Given the description of an element on the screen output the (x, y) to click on. 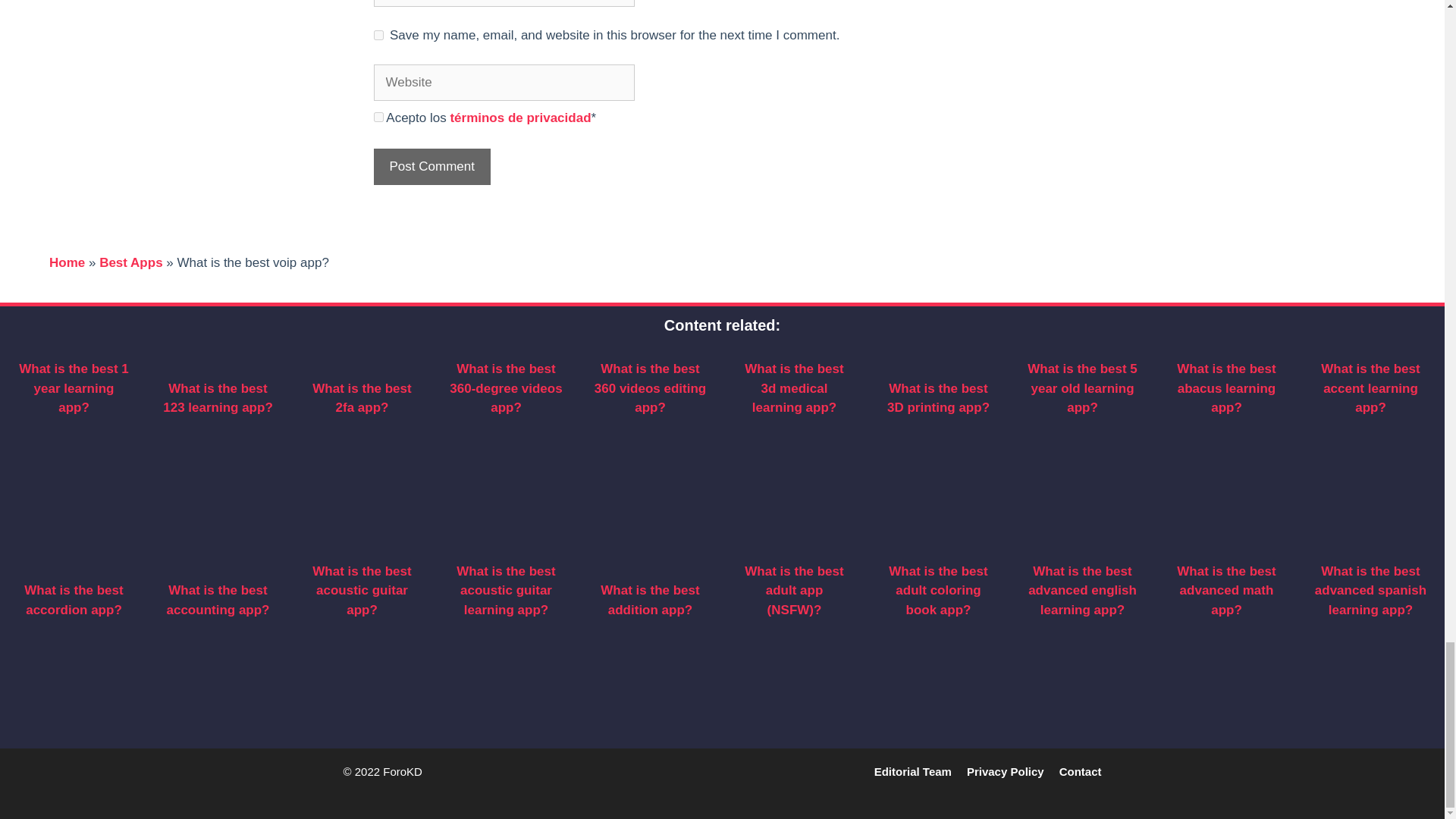
What is the best abacus learning app? (1225, 387)
Best Apps (130, 262)
Post Comment (430, 166)
What is the best 360 videos editing app? (650, 387)
What is the best 3D printing app? (938, 398)
What is the best 360-degree videos app? (505, 387)
What is the best 3d medical learning app? (793, 387)
What is the best 1 year learning app? (73, 387)
What is the best 2fa app? (361, 398)
Home (66, 262)
